Given the description of an element on the screen output the (x, y) to click on. 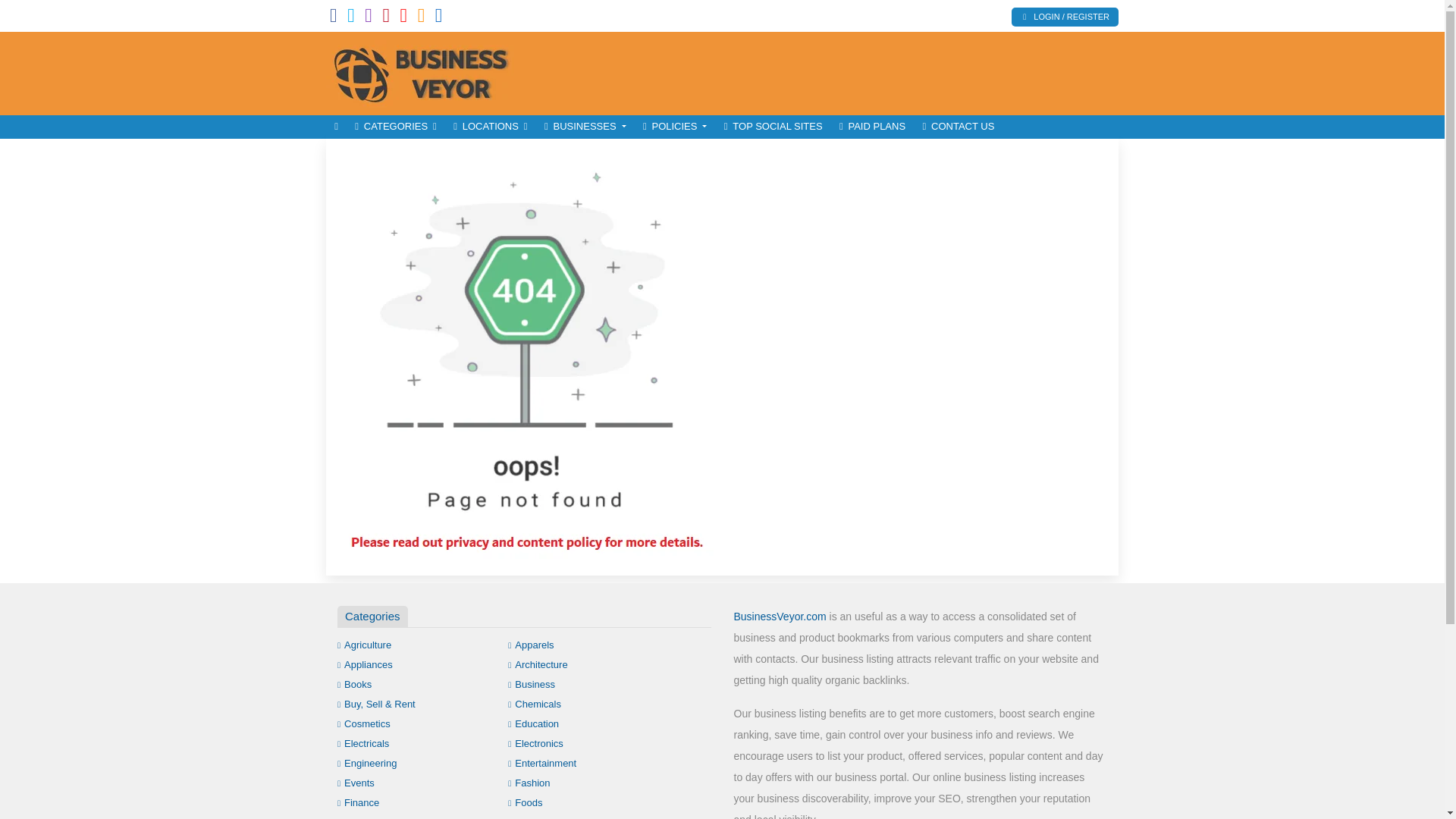
LOCATIONS (490, 126)
Transform Online Communities to Business Lead Generation (428, 71)
CATEGORIES (395, 126)
